Given the description of an element on the screen output the (x, y) to click on. 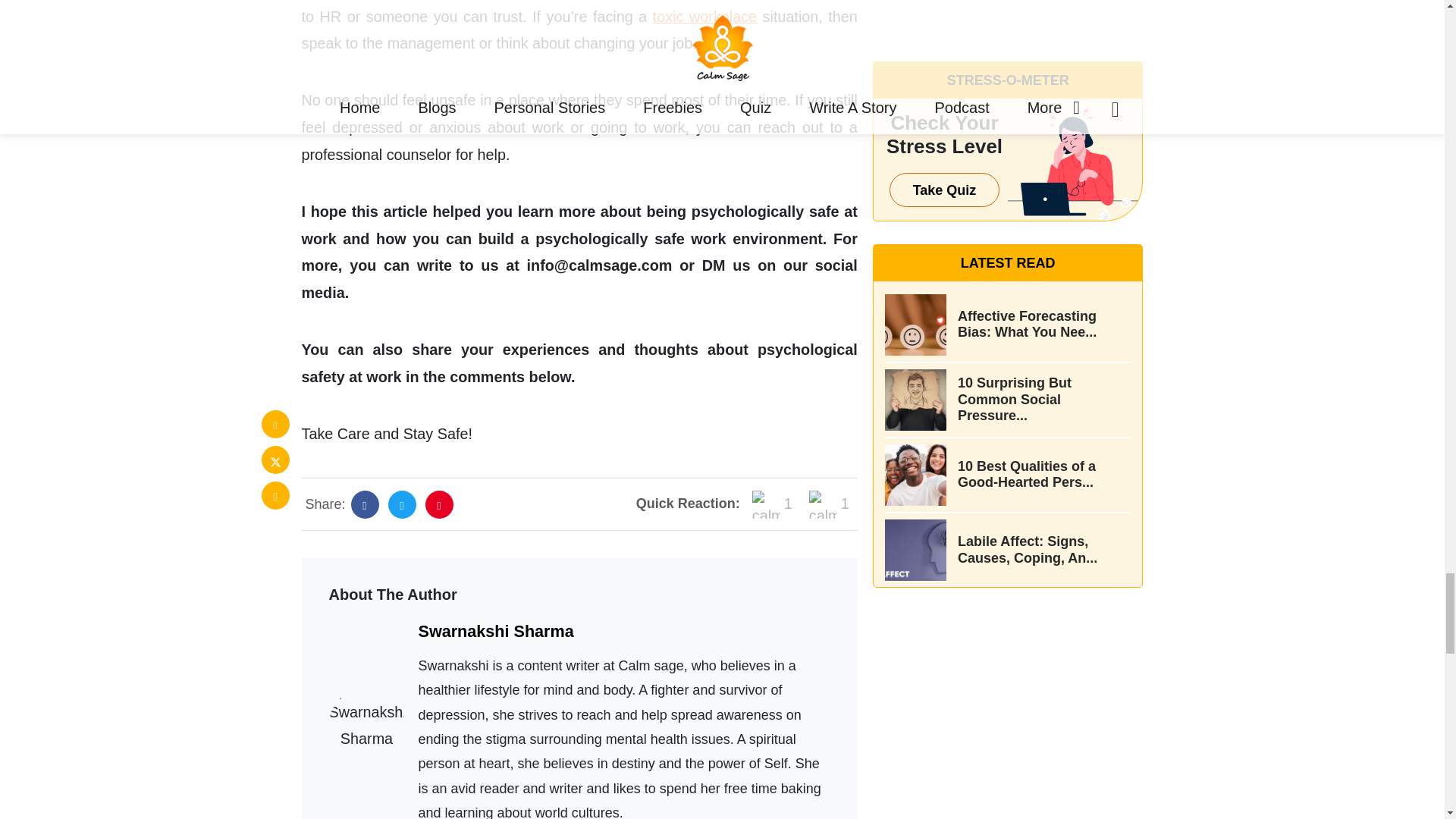
1 (829, 504)
toxic workplace (704, 16)
1 (772, 504)
Swarnakshi Sharma (496, 630)
